Given the description of an element on the screen output the (x, y) to click on. 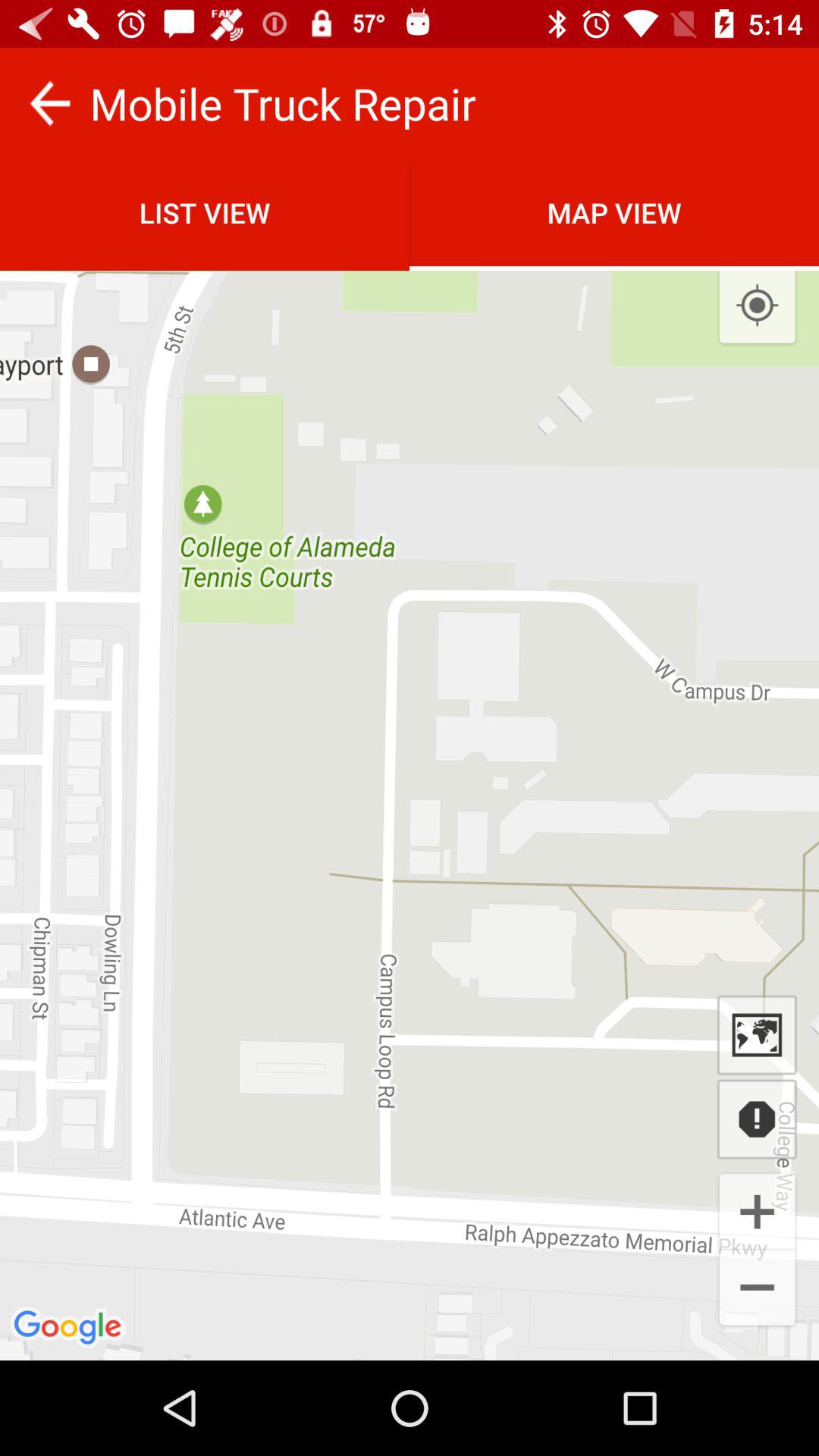
open the app next to the list view (757, 306)
